Given the description of an element on the screen output the (x, y) to click on. 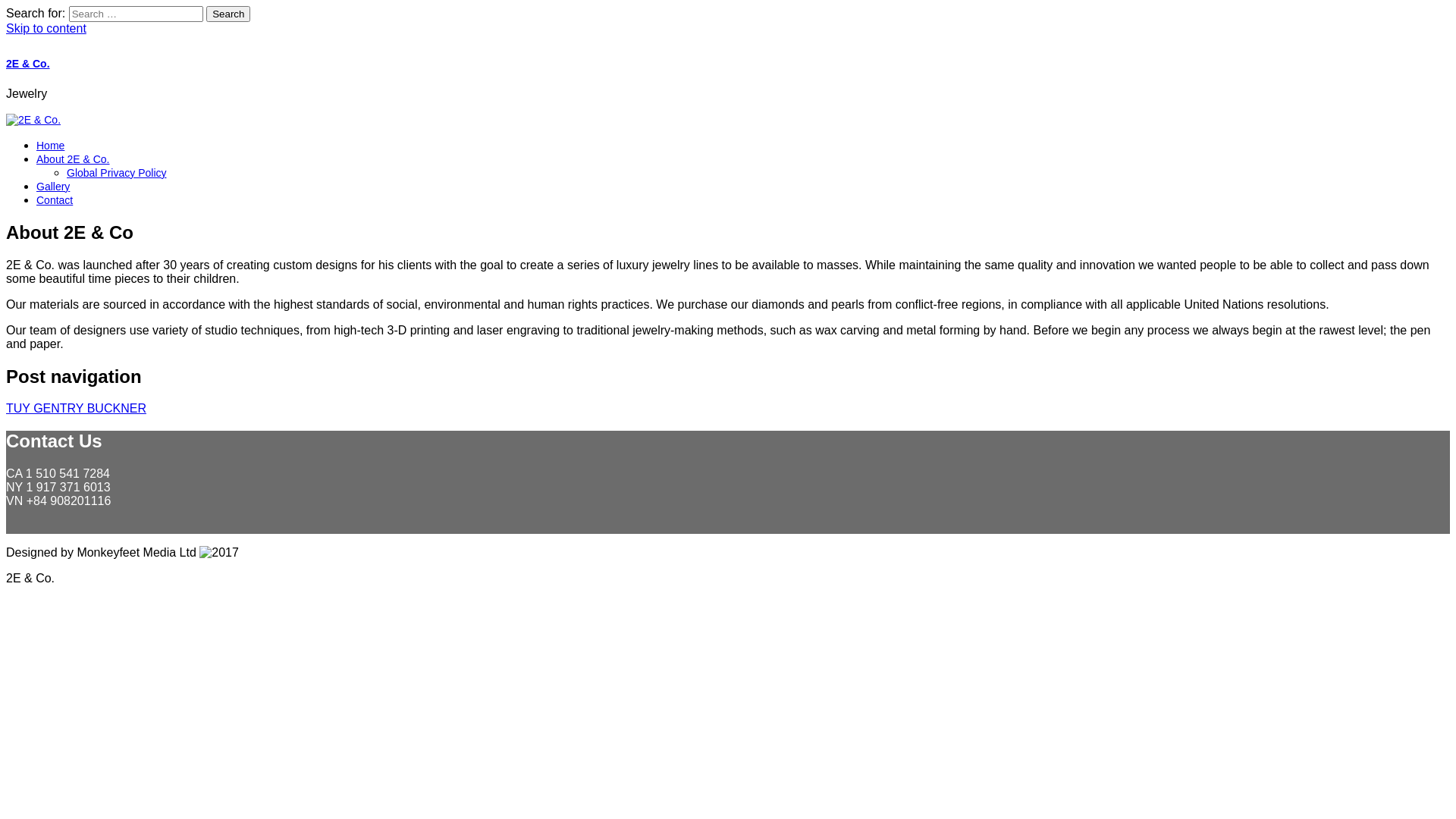
2E & Co. Element type: text (28, 63)
Search Element type: text (228, 13)
About 2E & Co. Element type: text (72, 159)
TUY GENTRY BUCKNER Element type: text (76, 407)
Global Privacy Policy Element type: text (116, 172)
Home Element type: text (50, 145)
Contact Element type: text (54, 200)
Gallery Element type: text (52, 186)
Skip to content Element type: text (46, 27)
